Given the description of an element on the screen output the (x, y) to click on. 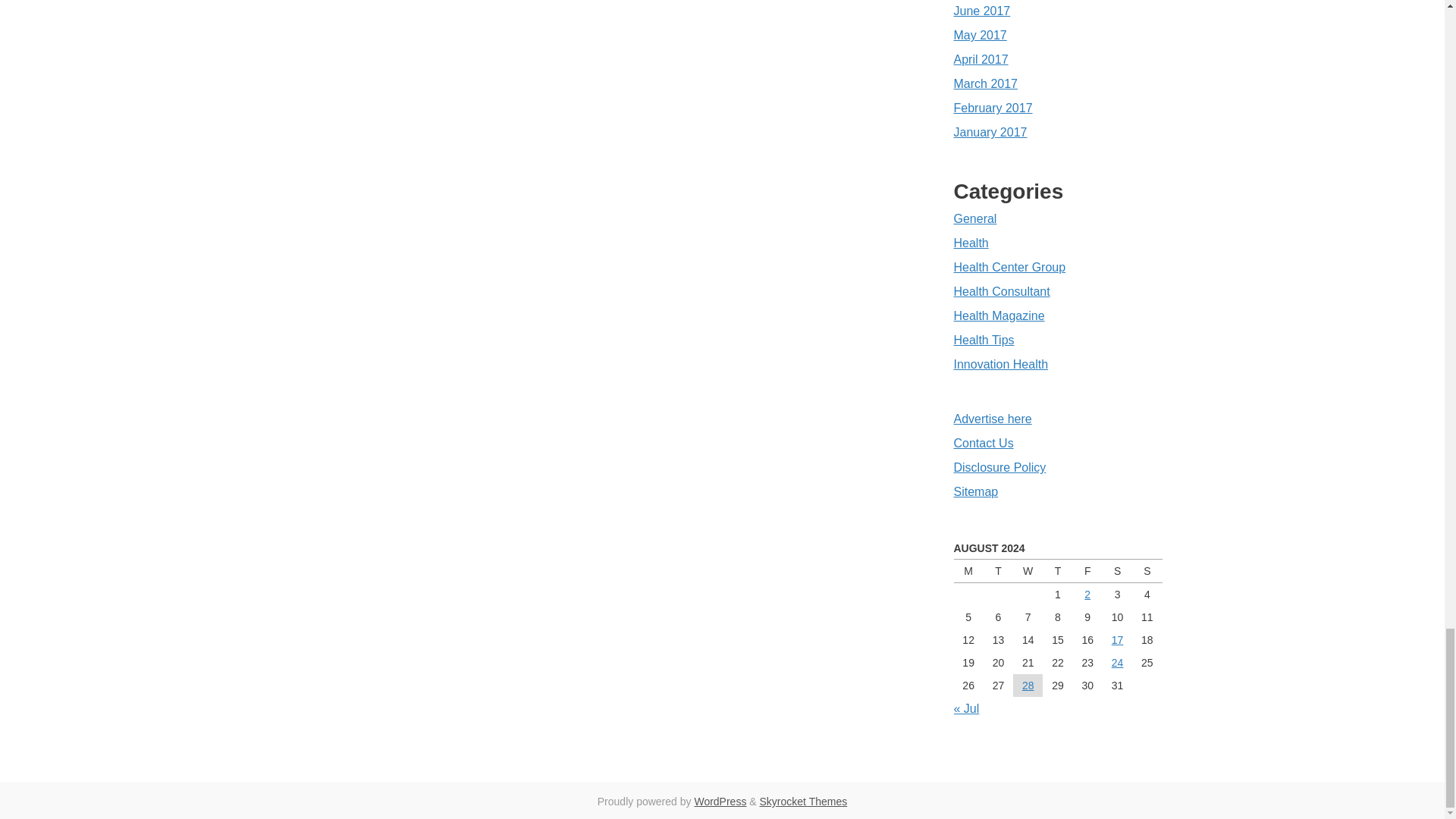
Monday (968, 571)
Friday (1087, 571)
Sunday (1146, 571)
Wednesday (1027, 571)
Semantic Personal Publishing Platform (719, 801)
Skyrocket Themes (803, 801)
Saturday (1117, 571)
Thursday (1056, 571)
Tuesday (998, 571)
